Given the description of an element on the screen output the (x, y) to click on. 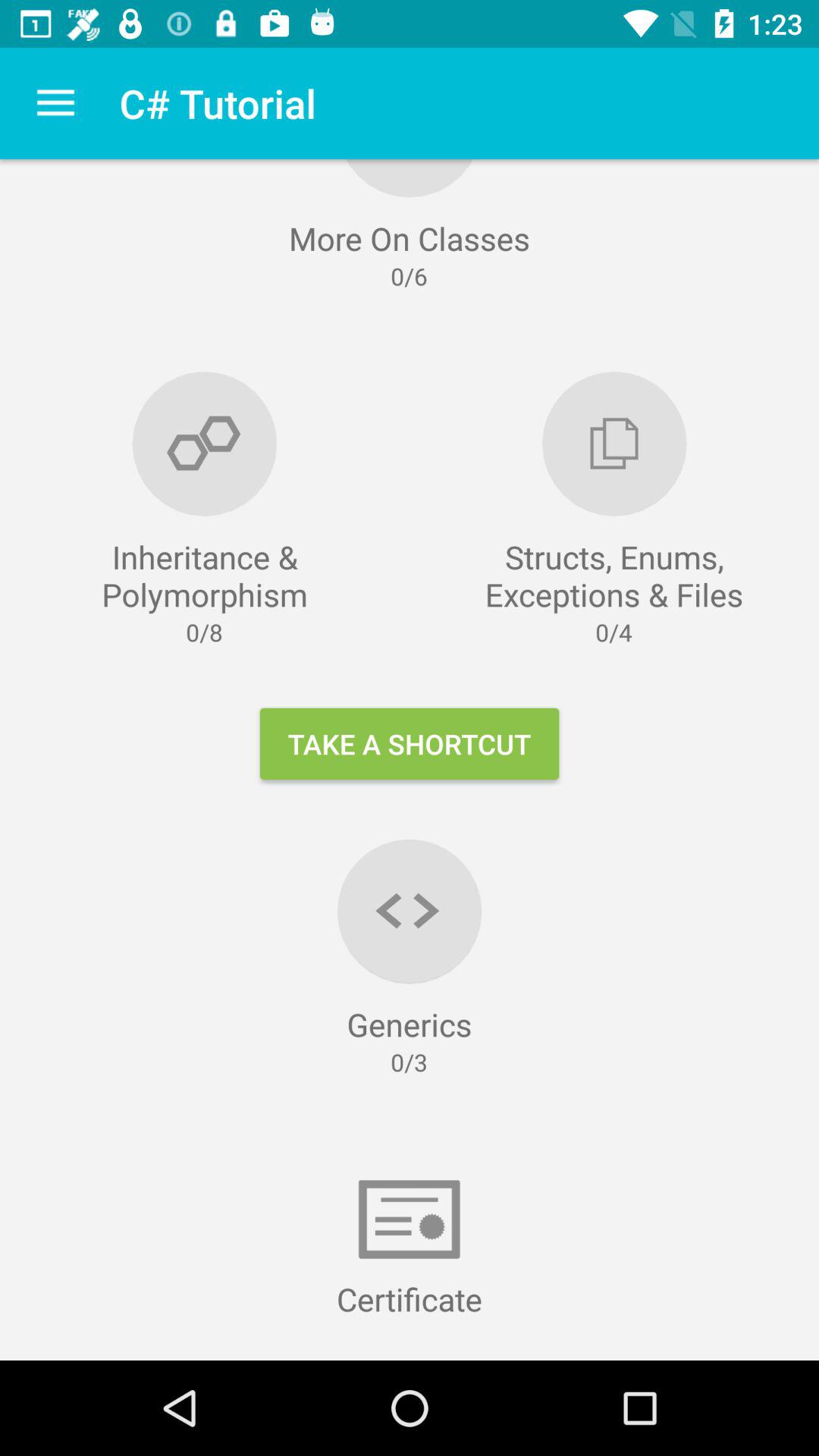
tap the icon below the inheritance & polymorphism icon (409, 743)
